Given the description of an element on the screen output the (x, y) to click on. 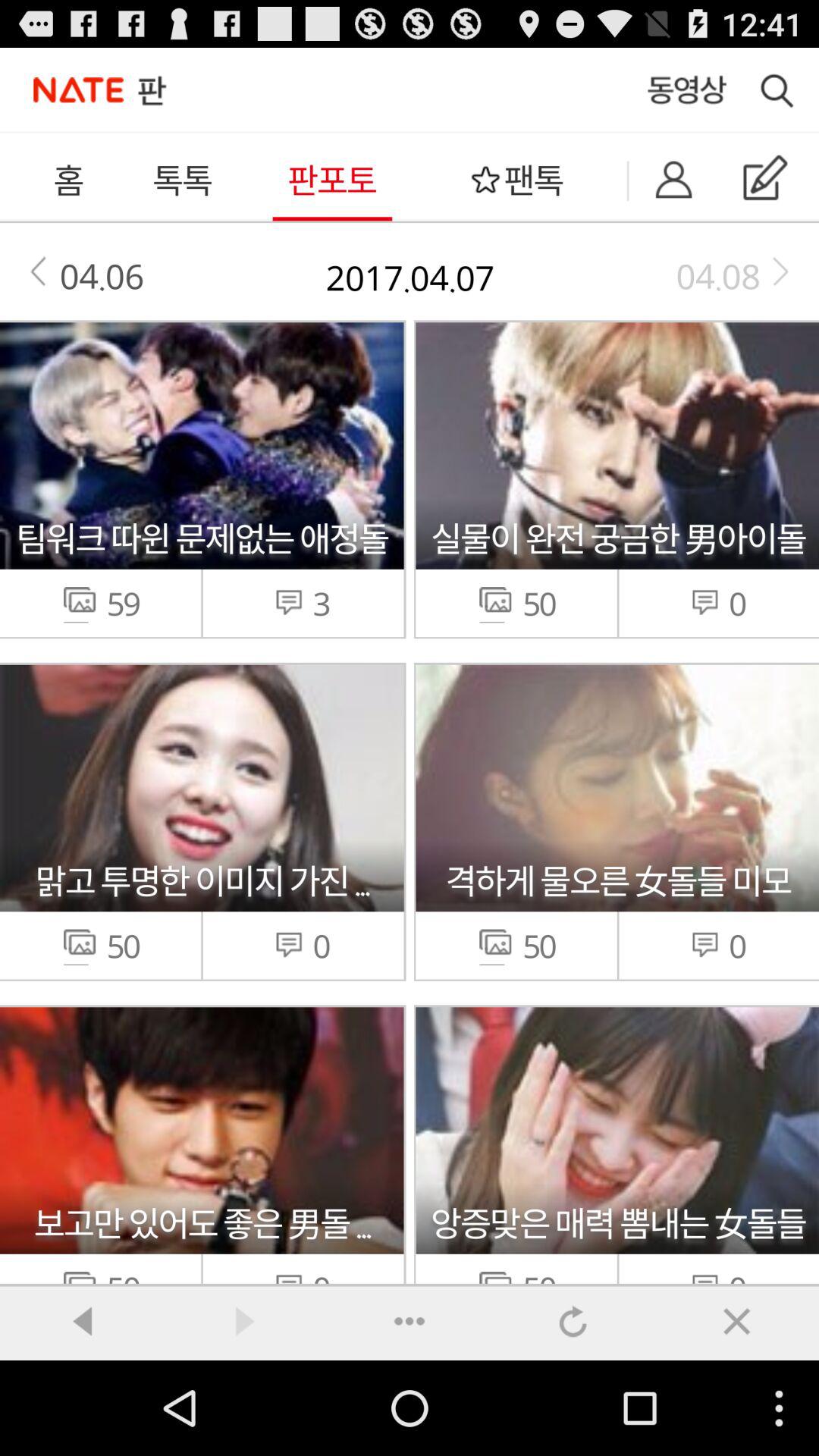
close (737, 1320)
